Given the description of an element on the screen output the (x, y) to click on. 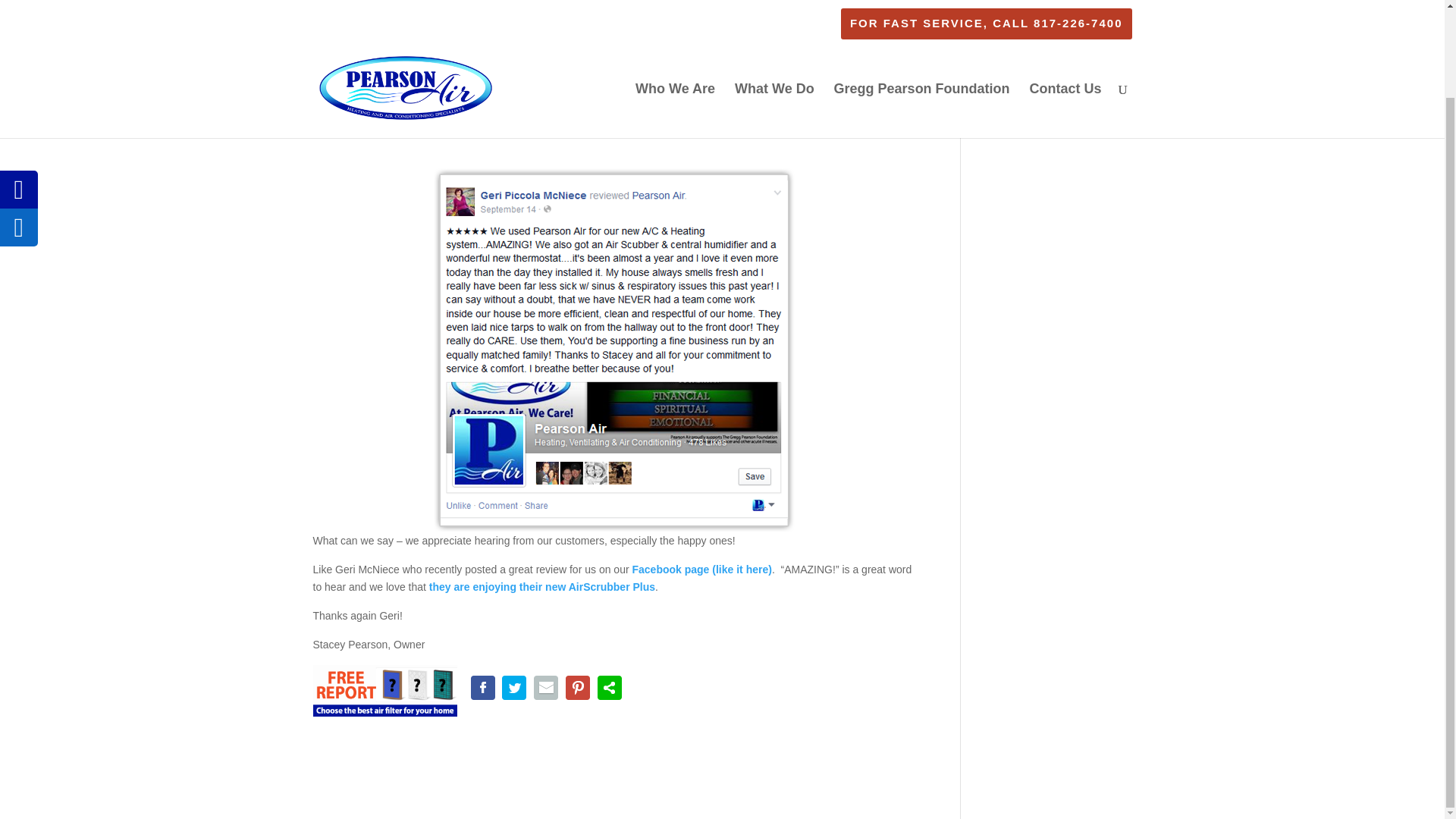
Air Scrubber Plus Technology (542, 586)
they are enjoying their new AirScrubber Plus (542, 586)
Who We Are (674, 18)
0 comments (630, 119)
Gregg Pearson Foundation (922, 18)
What We Do (774, 18)
Contact Us (1064, 18)
Air Conditioning (488, 119)
pearsonair (351, 119)
Social Media (562, 119)
Like us on Facebook! (701, 569)
Posts by pearsonair (351, 119)
